Given the description of an element on the screen output the (x, y) to click on. 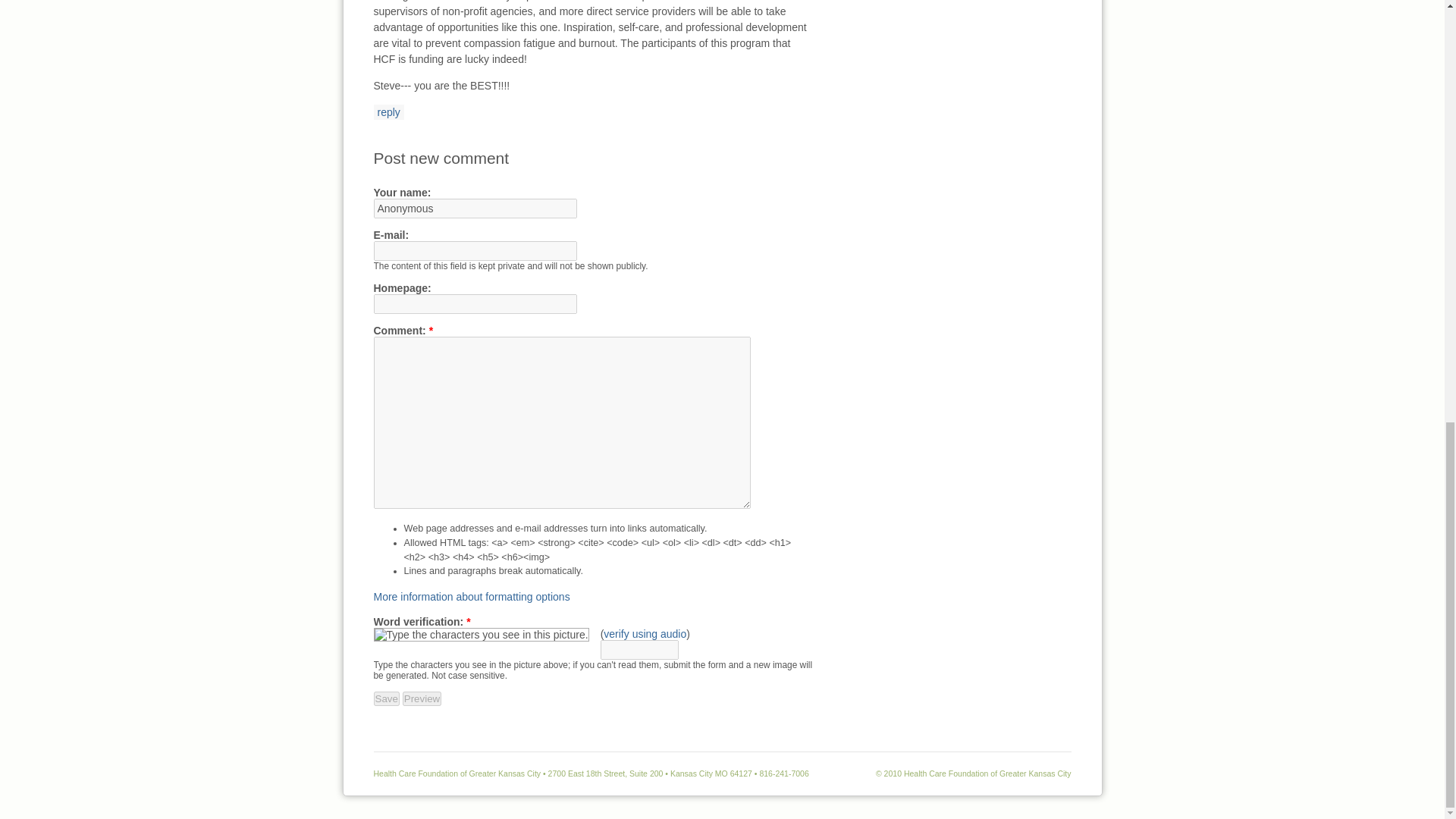
Anonymous (474, 208)
Preview (422, 698)
Save (385, 698)
